Given the description of an element on the screen output the (x, y) to click on. 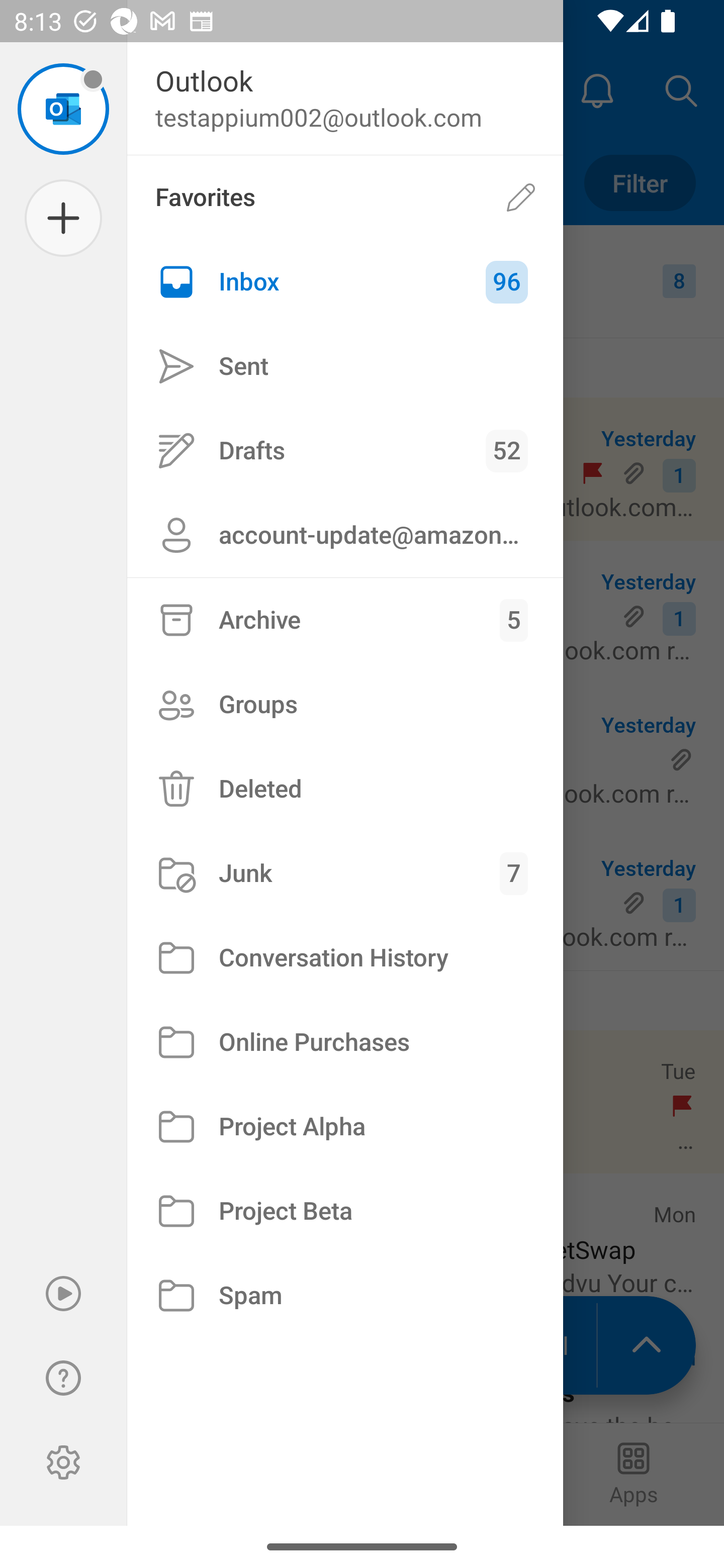
Edit favorites (520, 197)
Add account (63, 217)
Inbox Inbox, 96 unread emails,Selected (345, 281)
Sent (345, 366)
Drafts Drafts, 52 unread emails (345, 450)
account-update@amazon.com (345, 534)
Archive Archive, 2 of 10, level 1, 5 unread emails (345, 619)
Groups Groups, 3 of 10, level 1 (345, 703)
Deleted Deleted, 4 of 10, level 1 (345, 788)
Junk Junk, 5 of 10, level 1, 7 unread emails (345, 873)
Project Alpha Project Alpha, 8 of 10, level 1 (345, 1127)
Project Beta Project Beta, 9 of 10, level 1 (345, 1210)
Play My Emails (62, 1293)
Spam Spam, 10 of 10, level 1 (345, 1294)
Help (62, 1377)
Settings (62, 1462)
